Given the description of an element on the screen output the (x, y) to click on. 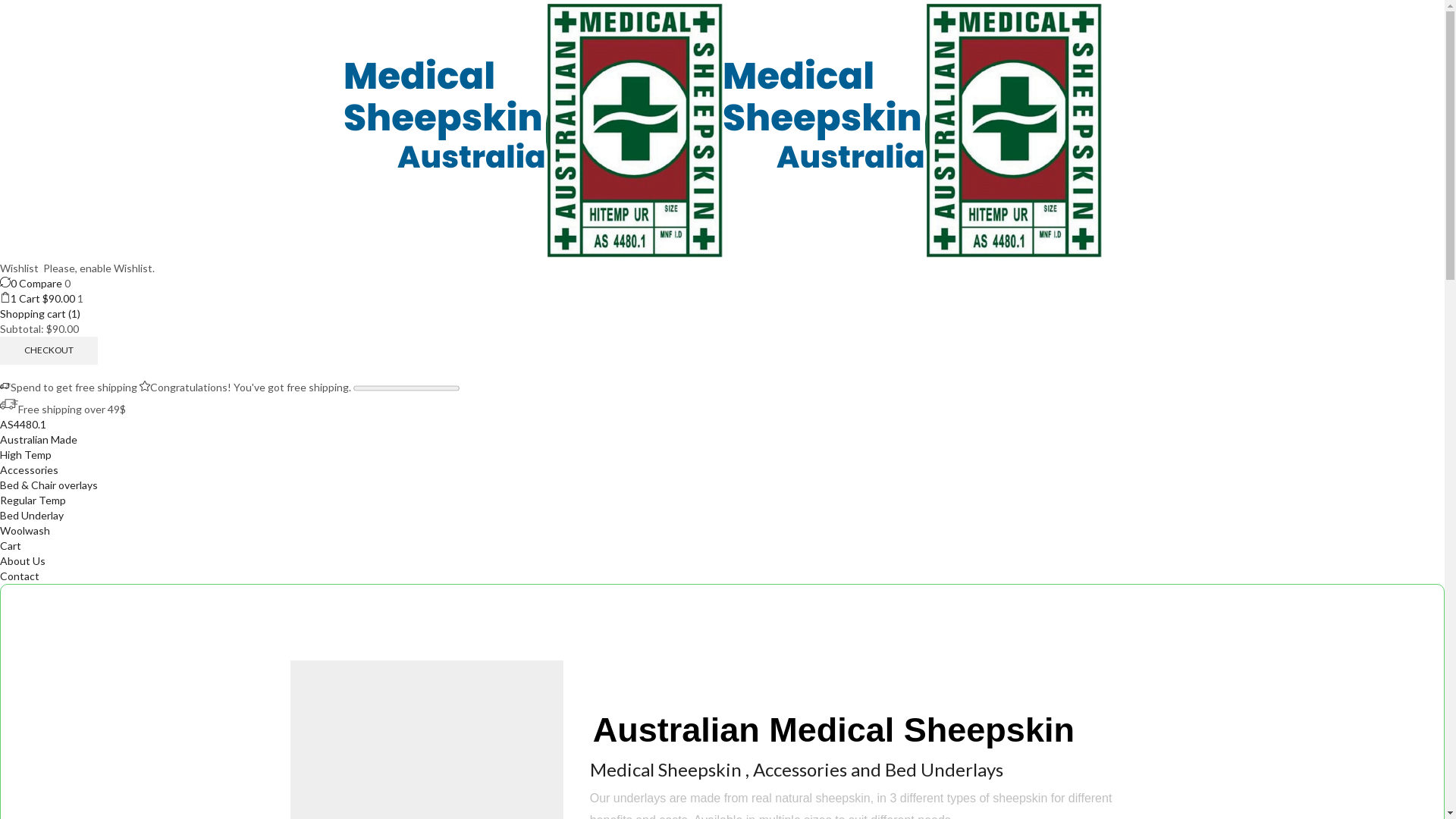
Shopping cart (1) Element type: text (40, 313)
Woolwash Element type: text (25, 530)
About Us Element type: text (22, 560)
Bed & Chair overlays Element type: text (48, 484)
CHECKOUT Element type: text (48, 350)
Contact Element type: text (19, 575)
0
Compare Element type: text (32, 282)
Australian Made Element type: text (38, 439)
AS4480.1 Element type: text (23, 423)
Bed Underlay Element type: text (31, 514)
Cart Element type: text (10, 545)
1
Cart $90.00 Element type: text (38, 297)
High Temp Element type: text (25, 454)
Accessories Element type: text (29, 469)
Regular Temp Element type: text (32, 499)
